Given the description of an element on the screen output the (x, y) to click on. 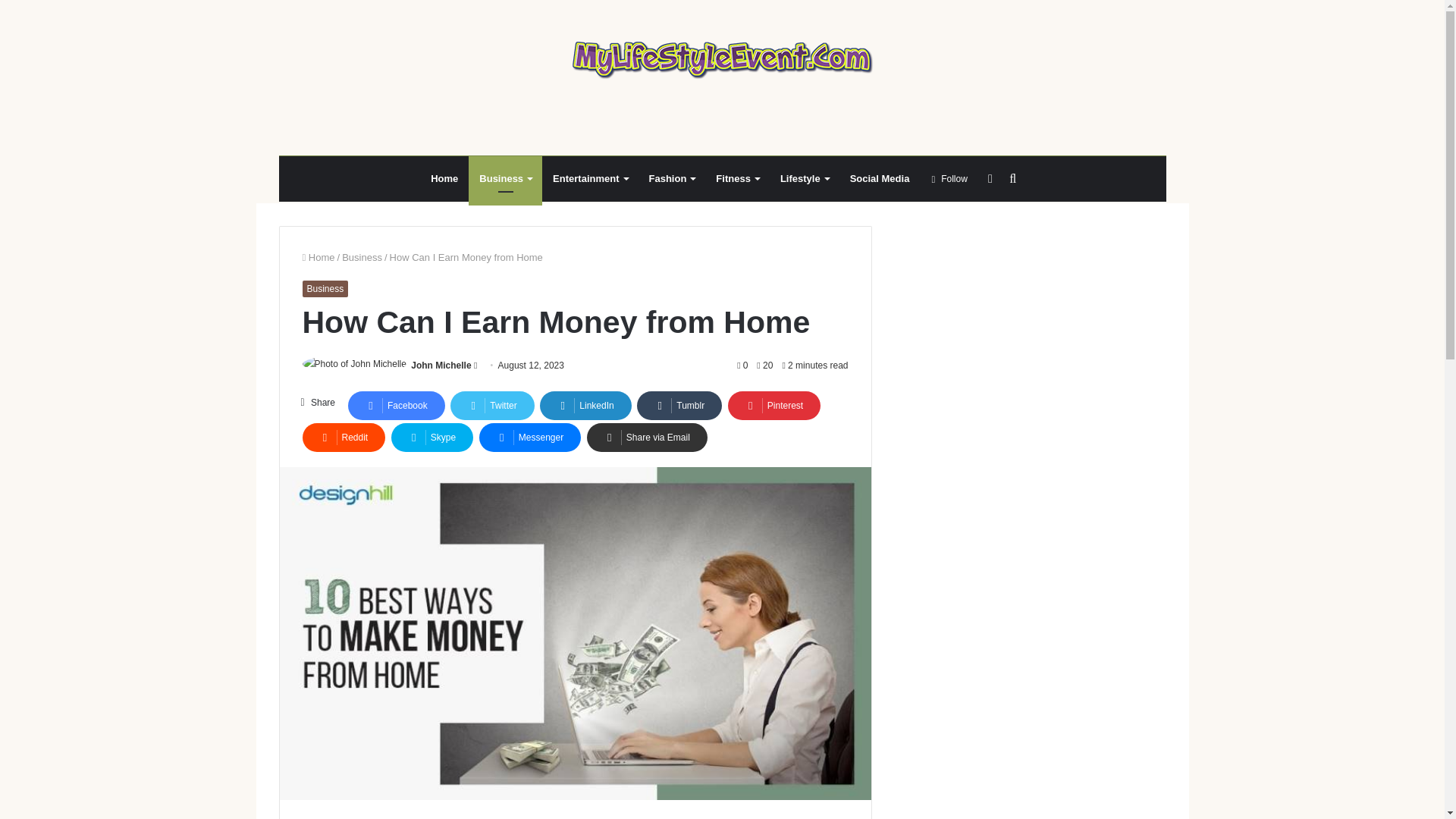
John Michelle (440, 365)
Business (361, 256)
Entertainment (589, 178)
John Michelle (440, 365)
Business (324, 288)
Fitness (737, 178)
Messenger (529, 437)
Pinterest (774, 405)
Twitter (491, 405)
Fashion (672, 178)
